Given the description of an element on the screen output the (x, y) to click on. 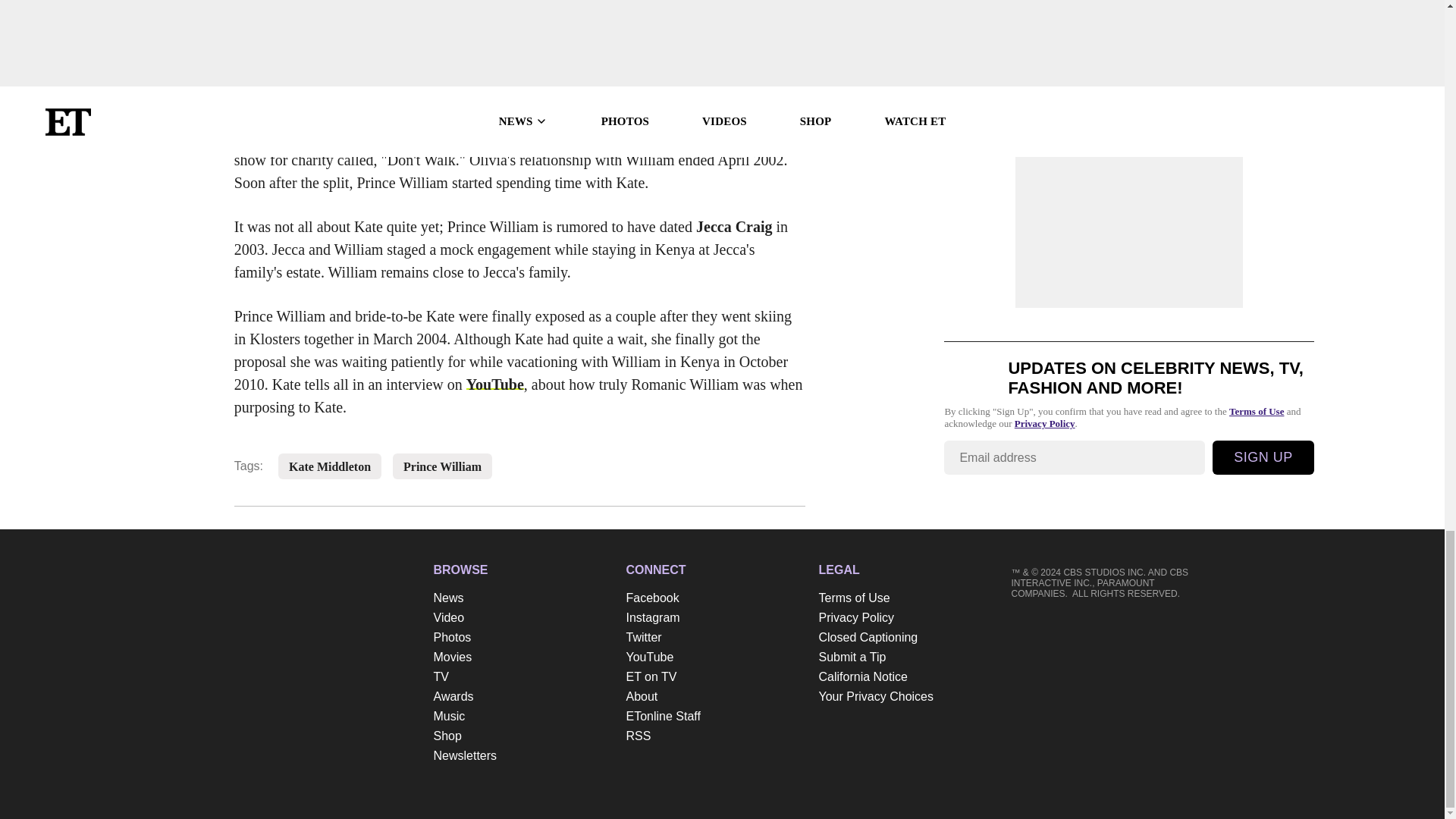
Kate Middleton (329, 467)
News (522, 598)
YouTube (494, 384)
Video (522, 618)
Photos (522, 637)
Prince William (442, 467)
